Given the description of an element on the screen output the (x, y) to click on. 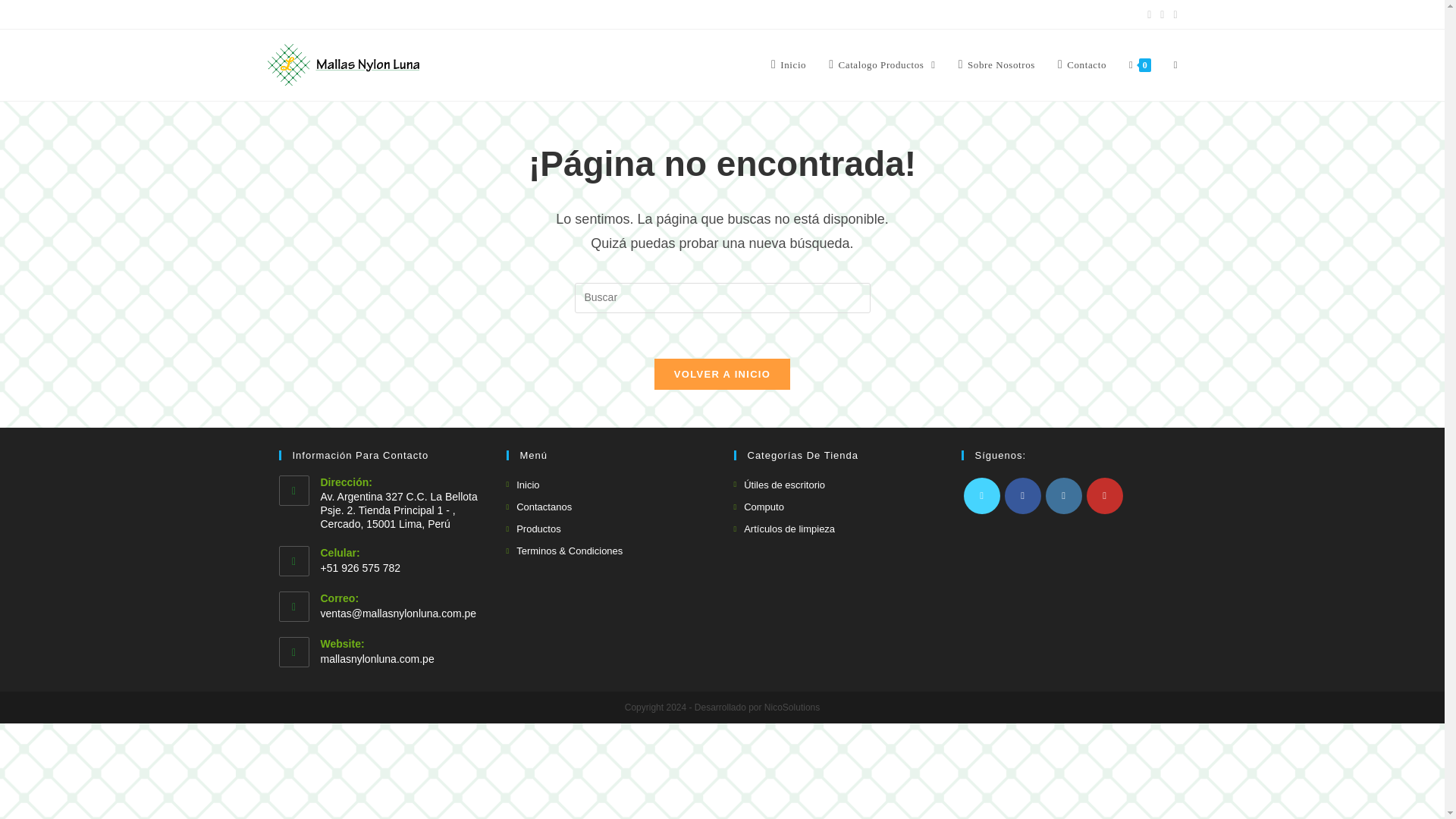
Contacto (1082, 64)
Inicio (788, 64)
Catalogo Productos (881, 64)
Sobre Nosotros (996, 64)
